Given the description of an element on the screen output the (x, y) to click on. 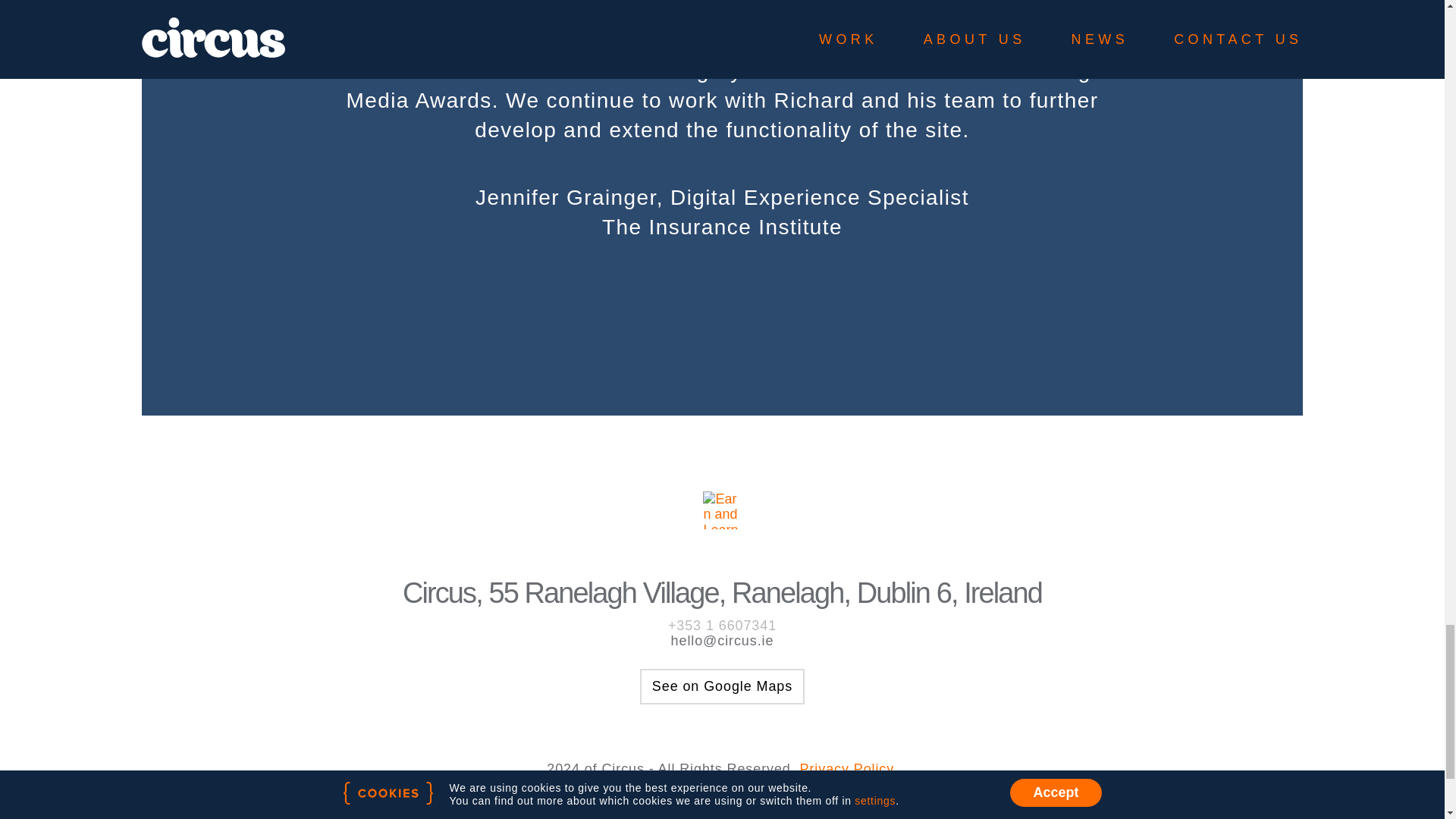
Privacy Policy (846, 768)
See on Google Maps (722, 686)
